Given the description of an element on the screen output the (x, y) to click on. 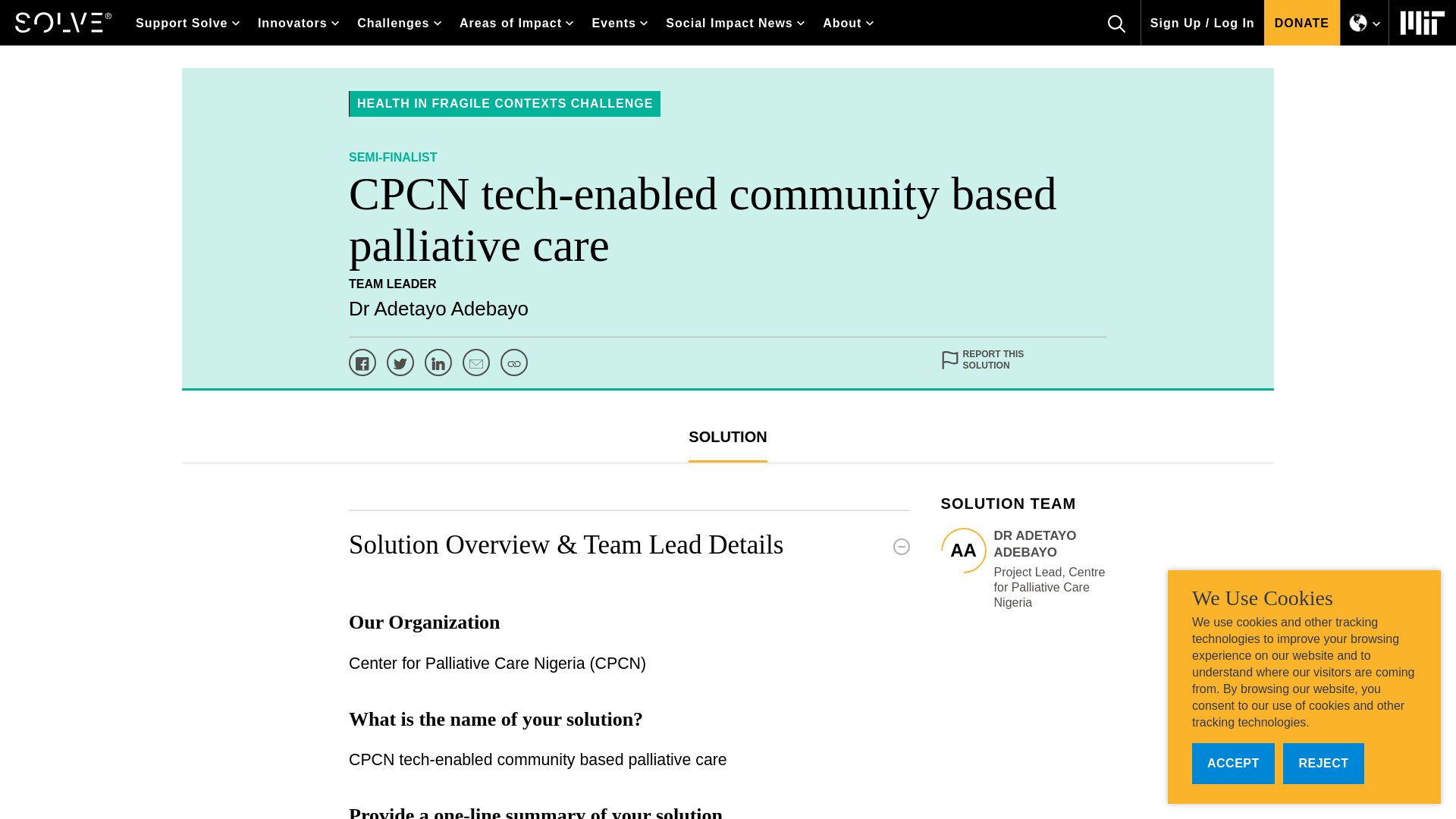
Events (619, 23)
About (847, 23)
Challenges (398, 23)
Social Impact News (734, 23)
DONATE (1301, 22)
Support Solve (187, 23)
Innovators (297, 23)
Areas of Impact (515, 23)
